Given the description of an element on the screen output the (x, y) to click on. 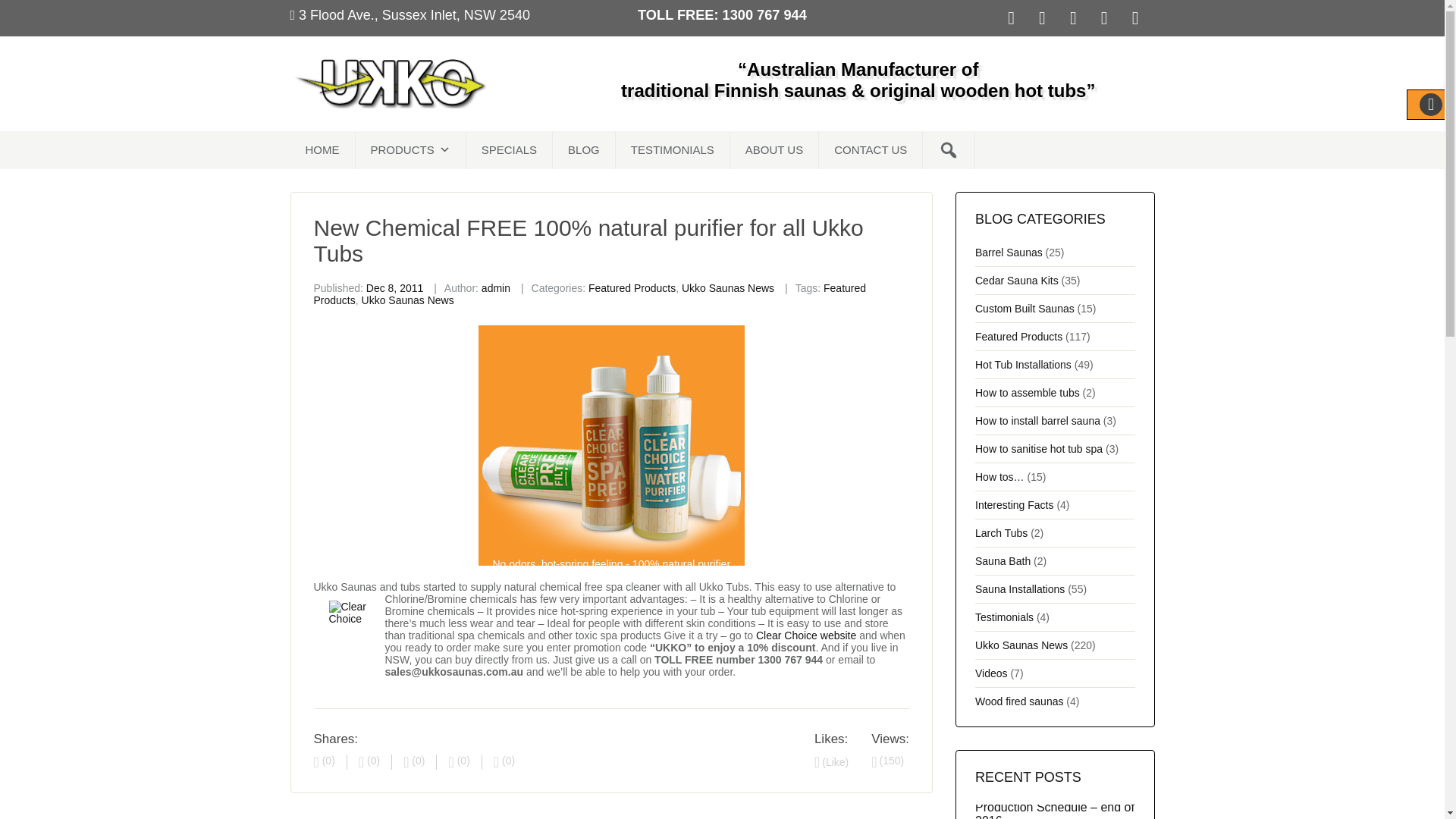
Click to go to Clear Choice Australian website (805, 635)
CONTACT US (870, 149)
Connect us on  (1045, 17)
SPECIALS (509, 149)
TESTIMONIALS (672, 149)
Ukko Saunas News (727, 287)
admin (496, 287)
Featured Products (631, 287)
Australian sauna and Cedar hot tubs manufacturer (389, 82)
ABOUT US (774, 149)
